Given the description of an element on the screen output the (x, y) to click on. 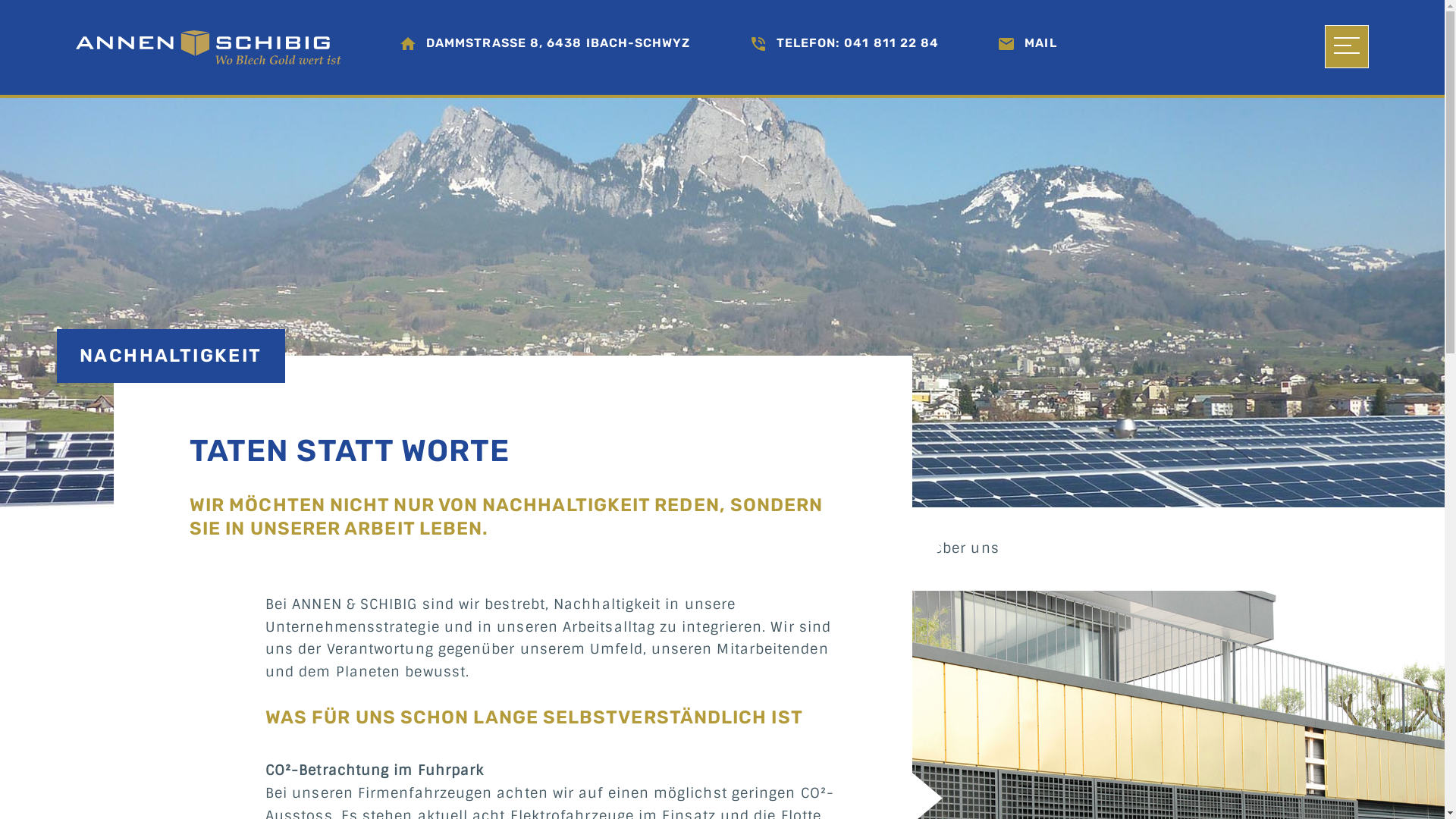
MAIL Element type: text (1040, 42)
TELEFON: 041 811 22 84 Element type: text (857, 42)
